Given the description of an element on the screen output the (x, y) to click on. 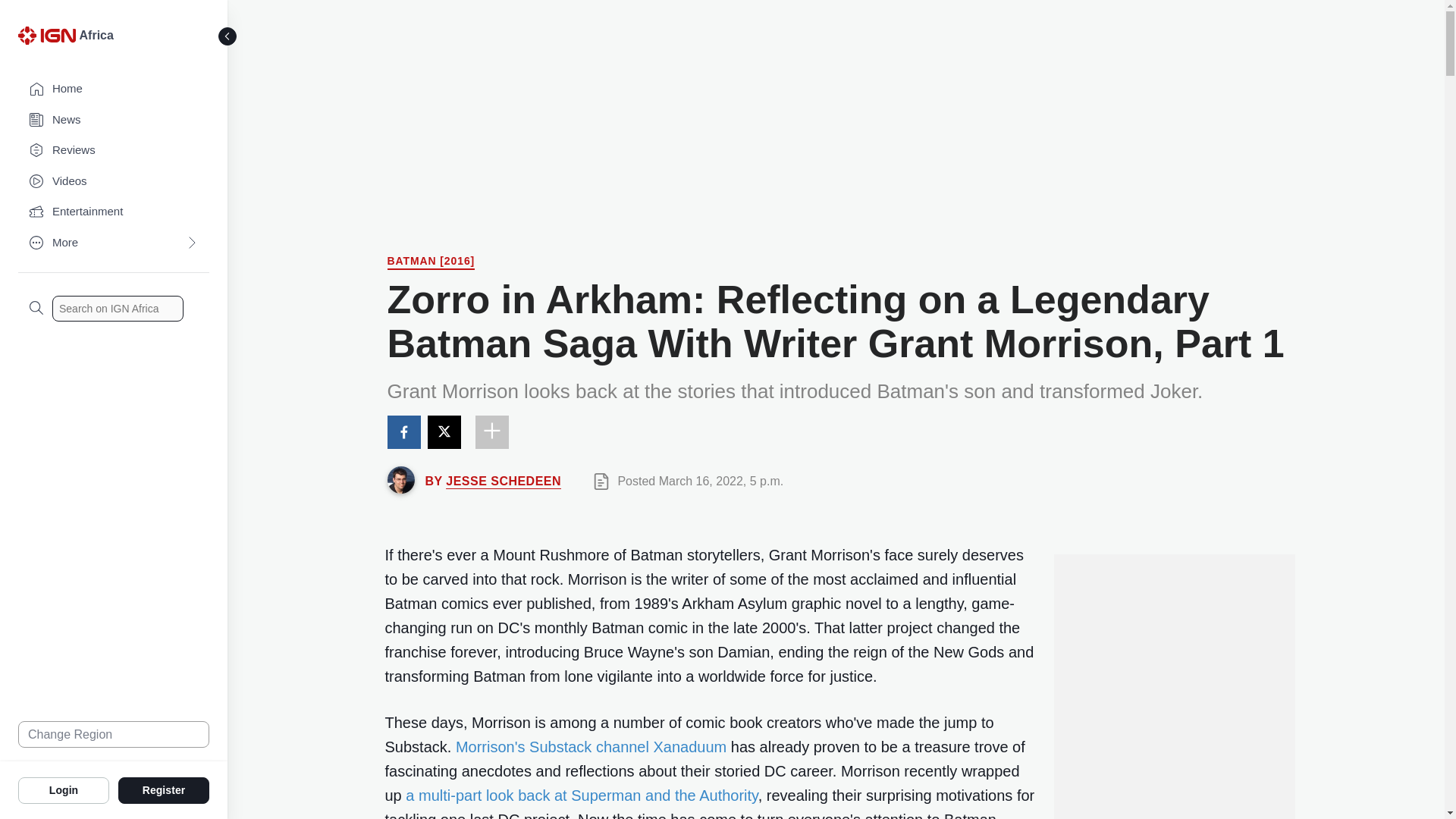
a multi-part look back at Superman and the Authority (581, 795)
JESSE SCHEDEEN (502, 481)
Toggle Sidebar (226, 36)
News (113, 119)
More (113, 242)
Reviews (113, 150)
Entertainment (113, 211)
IGN Logo (48, 39)
3rd party ad content (1173, 753)
Login (63, 789)
Videos (113, 181)
Register (163, 789)
Home (113, 89)
